Given the description of an element on the screen output the (x, y) to click on. 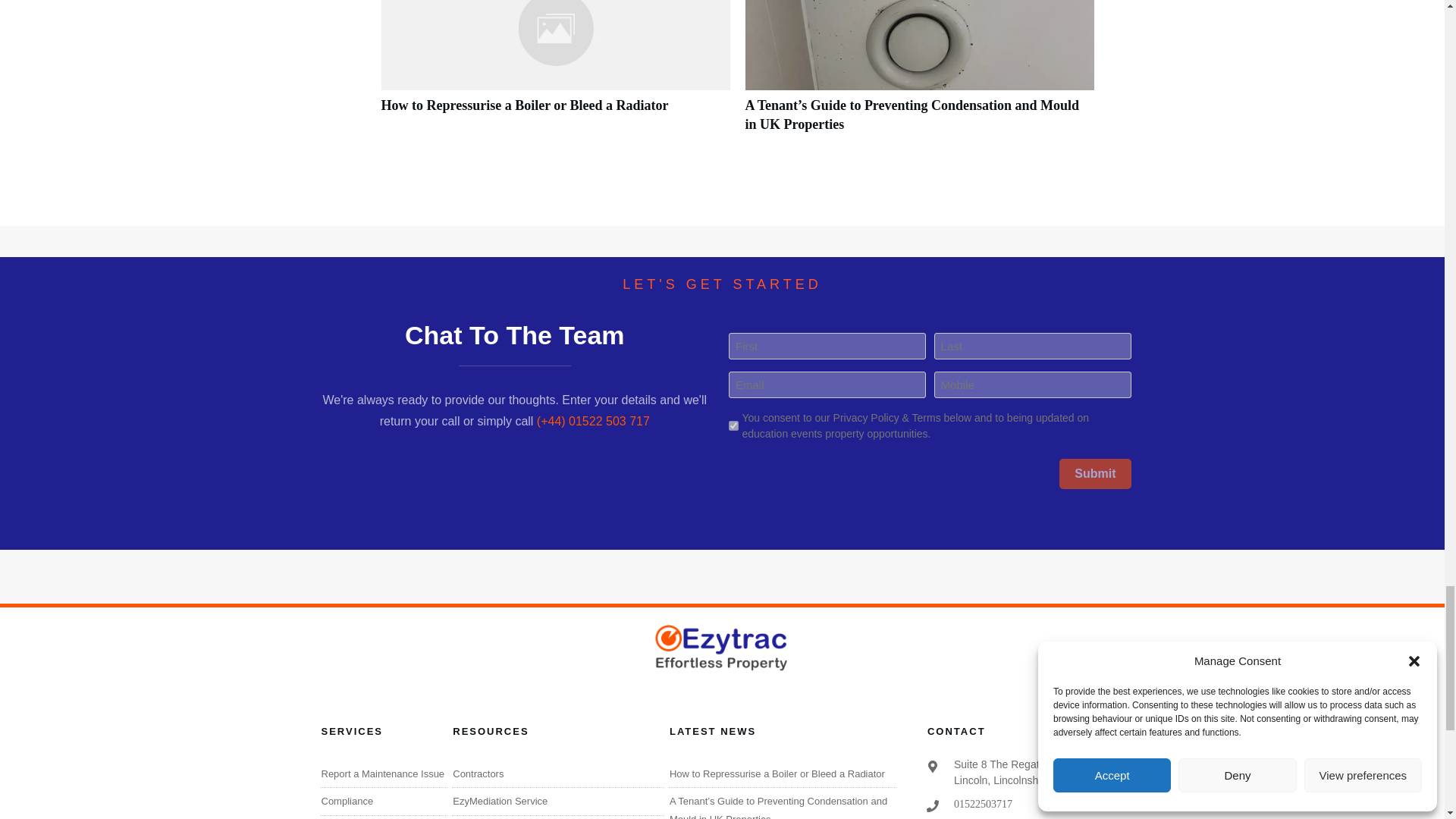
Submit (1095, 473)
How to Repressurise a Boiler or Bleed a Radiator (524, 105)
EzyMediation Service (499, 800)
Compliance (347, 800)
Contractors (477, 773)
Report a Maintenance Issue (383, 773)
